Given the description of an element on the screen output the (x, y) to click on. 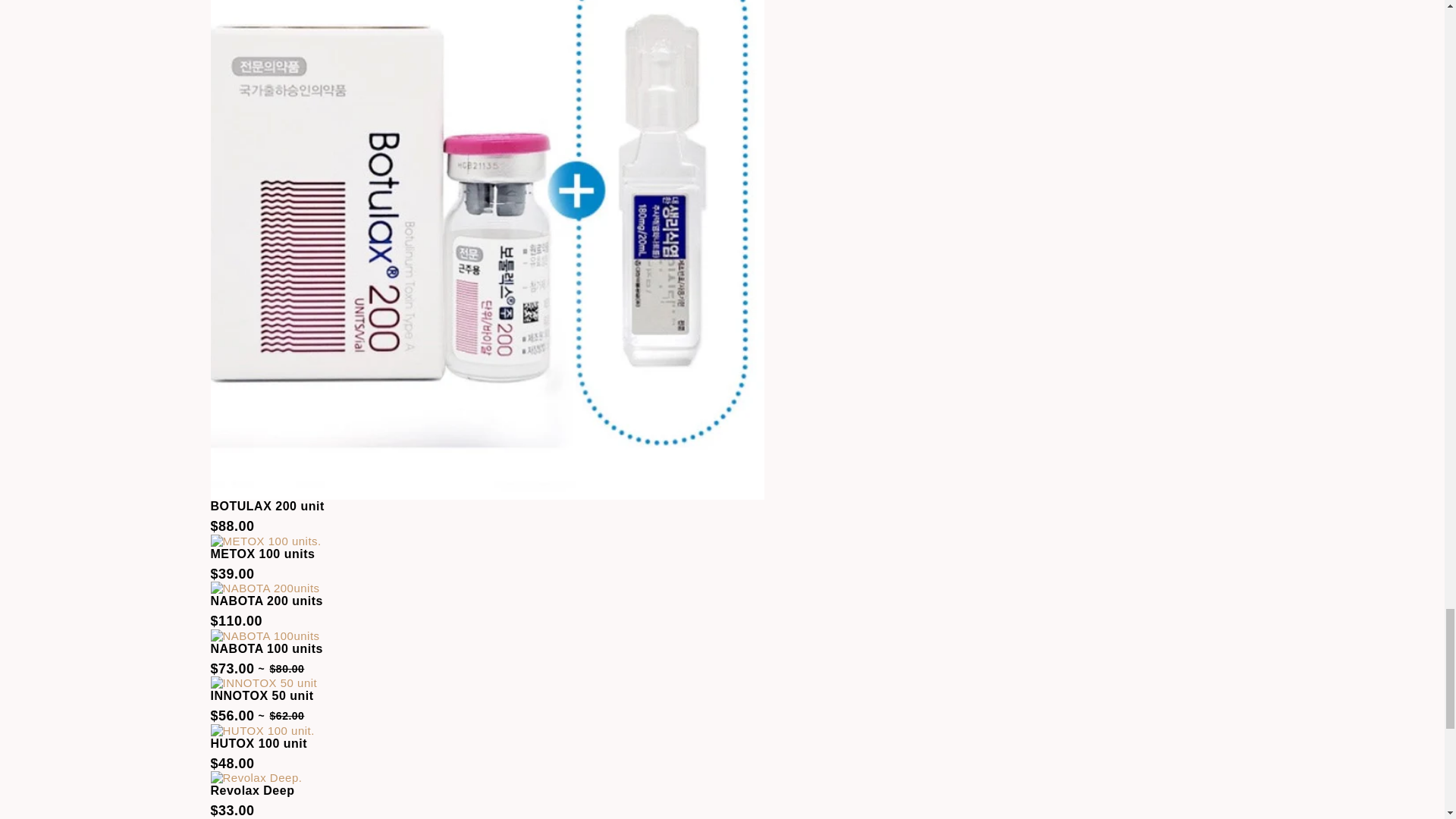
BOTULAX 200 unit (267, 506)
